Given the description of an element on the screen output the (x, y) to click on. 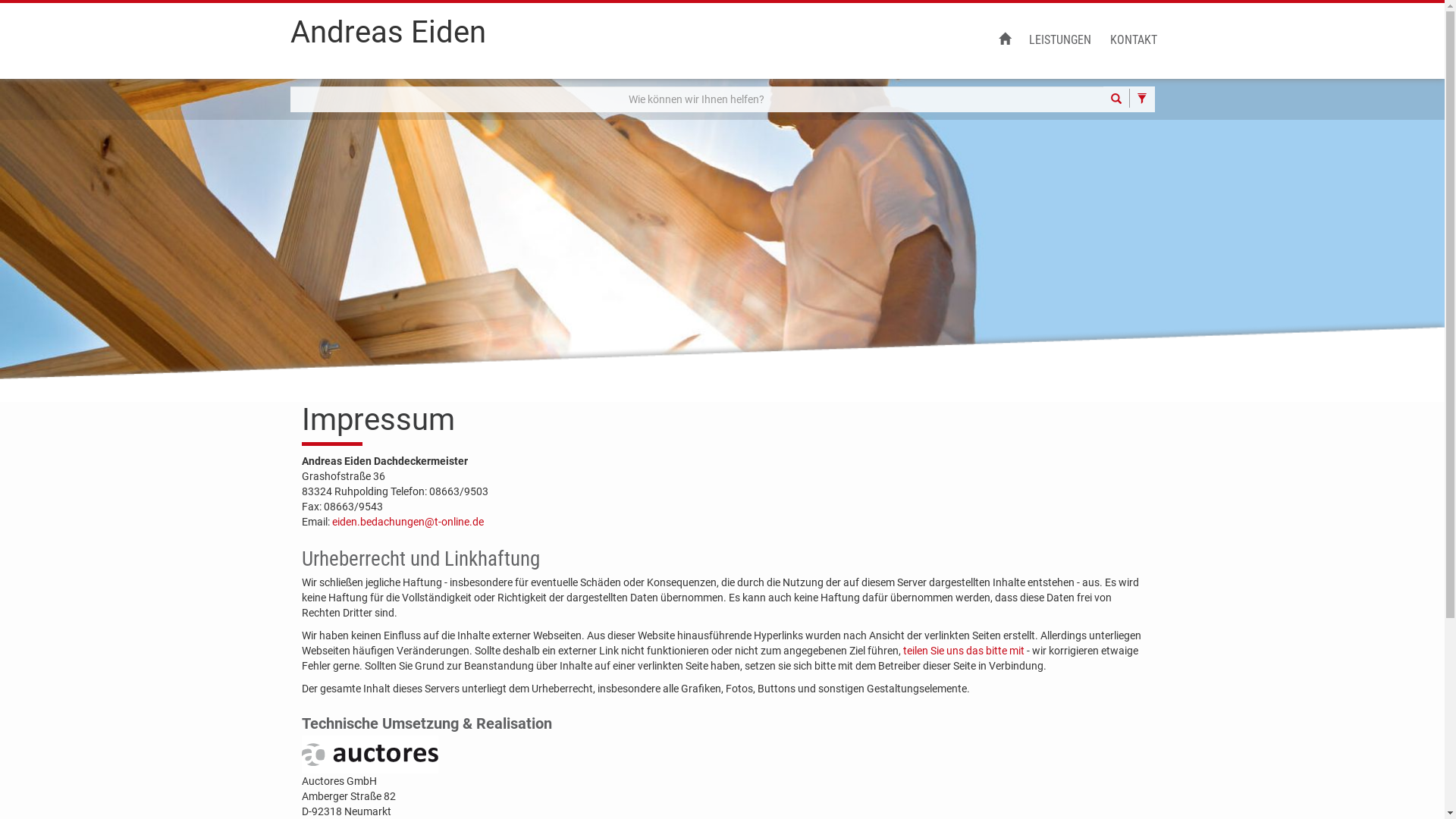
LEISTUNGEN Element type: text (1059, 40)
Andreas Eiden Element type: text (387, 38)
eiden.bedachungen@t-online.de Element type: text (407, 521)
Link zur  Auctores GmbH Element type: hover (369, 754)
KONTAKT Element type: text (1133, 40)
teilen Sie uns das bitte mit Element type: text (962, 650)
